Given the description of an element on the screen output the (x, y) to click on. 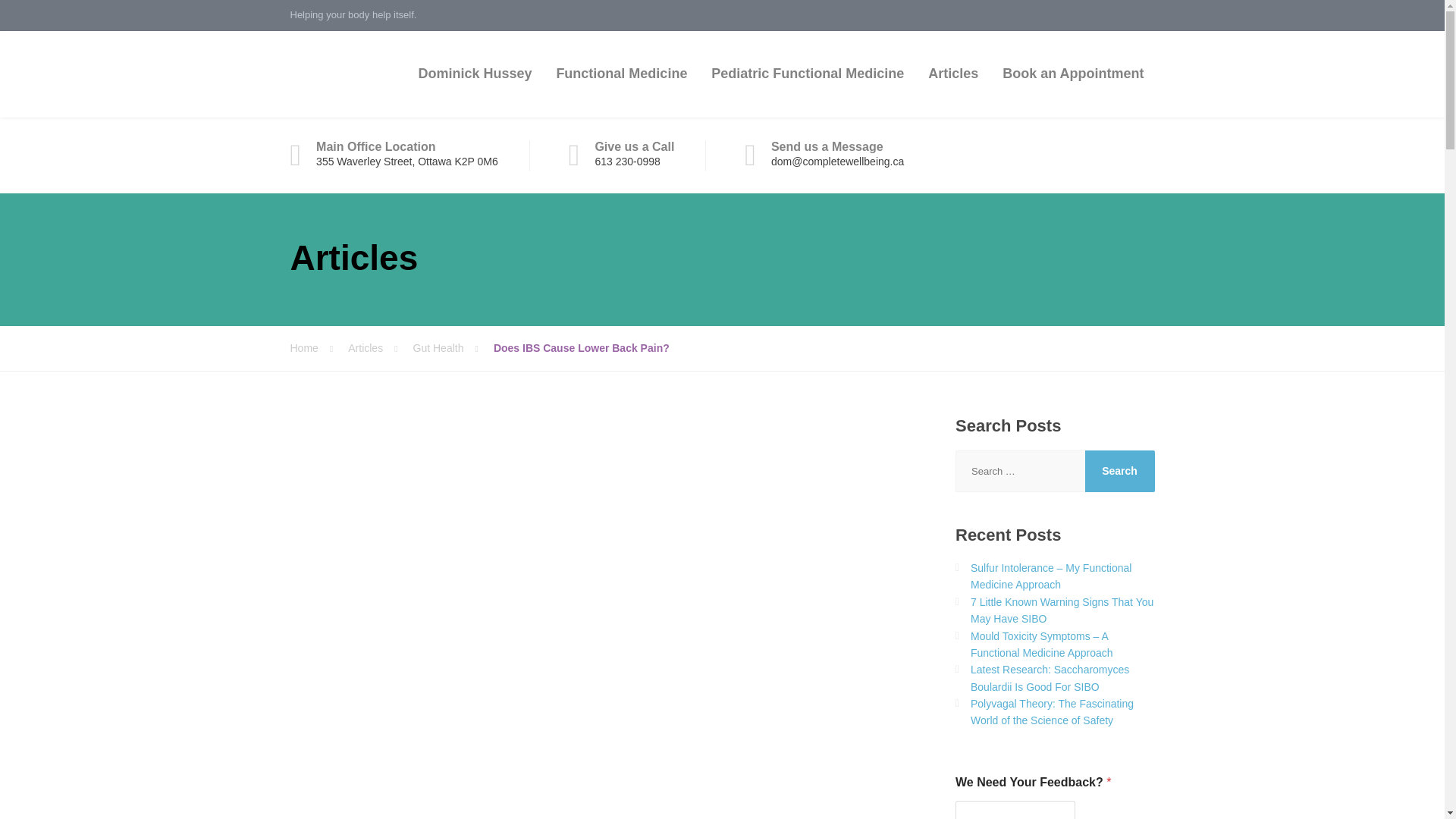
Articles (379, 347)
Gut Health (453, 347)
Pediatric Functional Medicine (807, 74)
Search (1119, 471)
Go to Home. (318, 347)
Go to the Gut Health Category archives. (453, 347)
7 Little Known Warning Signs That You May Have SIBO (1062, 610)
Dominick Hussey (474, 74)
Search (1119, 471)
Home (318, 347)
